Given the description of an element on the screen output the (x, y) to click on. 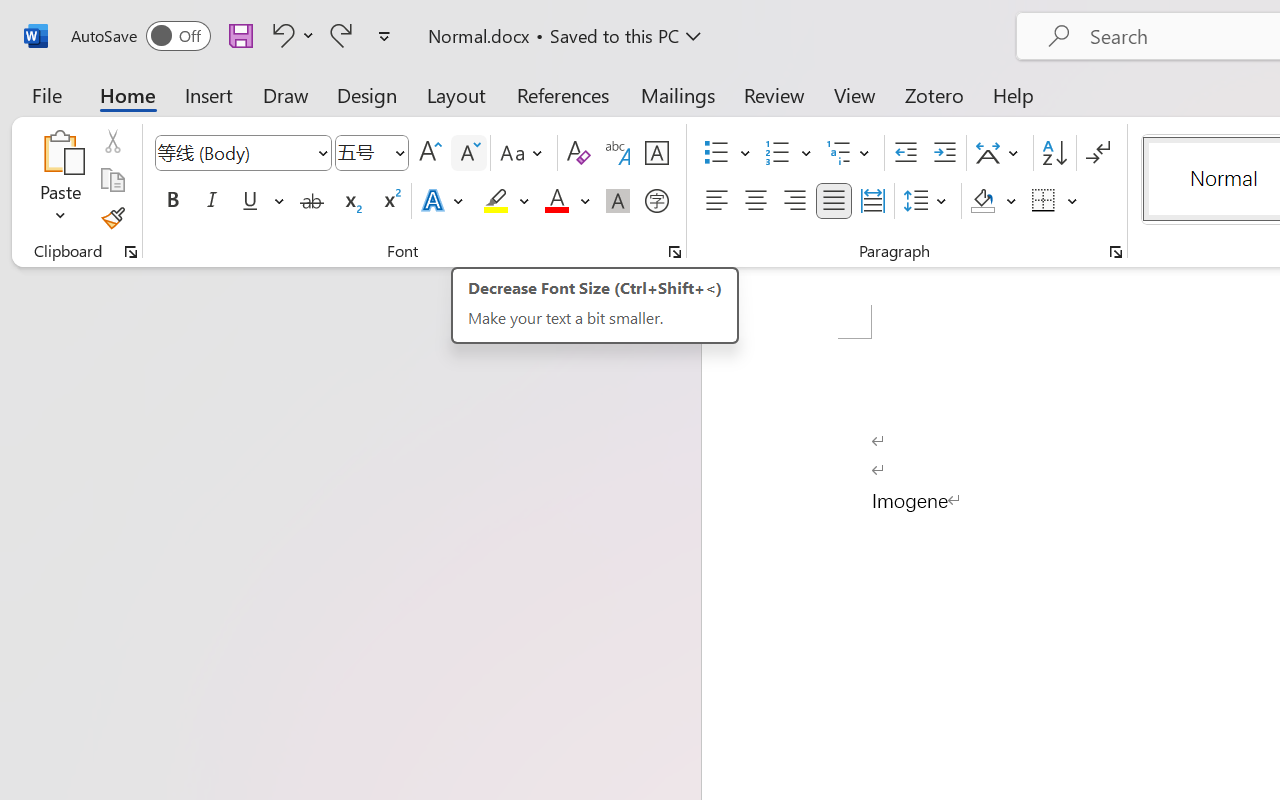
Clear Formatting (578, 153)
Italic (212, 201)
Enclose Characters... (656, 201)
Distributed (872, 201)
Grow Font (430, 153)
Font... (675, 252)
Open (399, 152)
Increase Indent (944, 153)
Shading (993, 201)
Sort... (1054, 153)
